Given the description of an element on the screen output the (x, y) to click on. 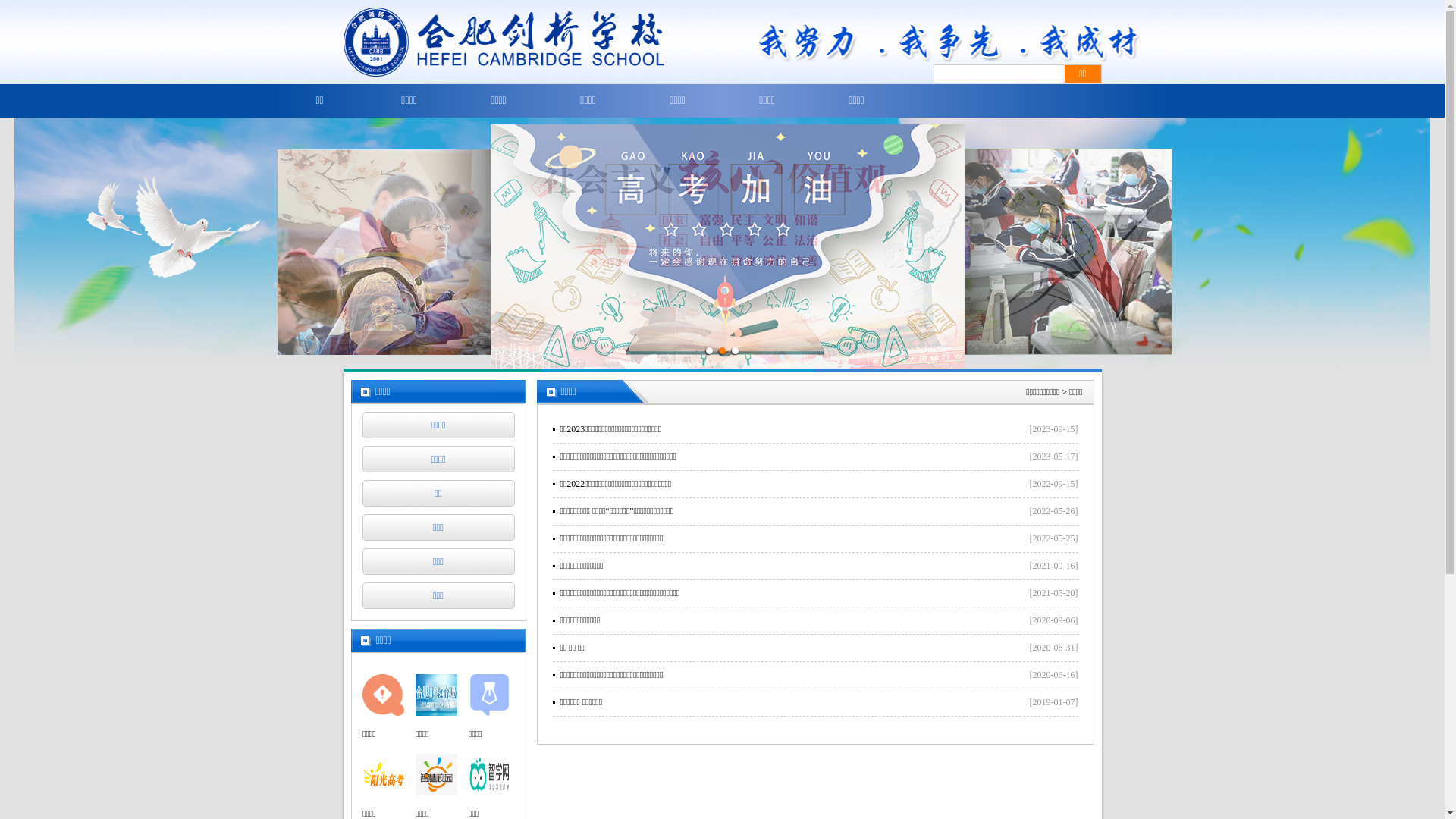
2 Element type: text (722, 350)
3 Element type: text (734, 350)
1 Element type: text (709, 350)
